Given the description of an element on the screen output the (x, y) to click on. 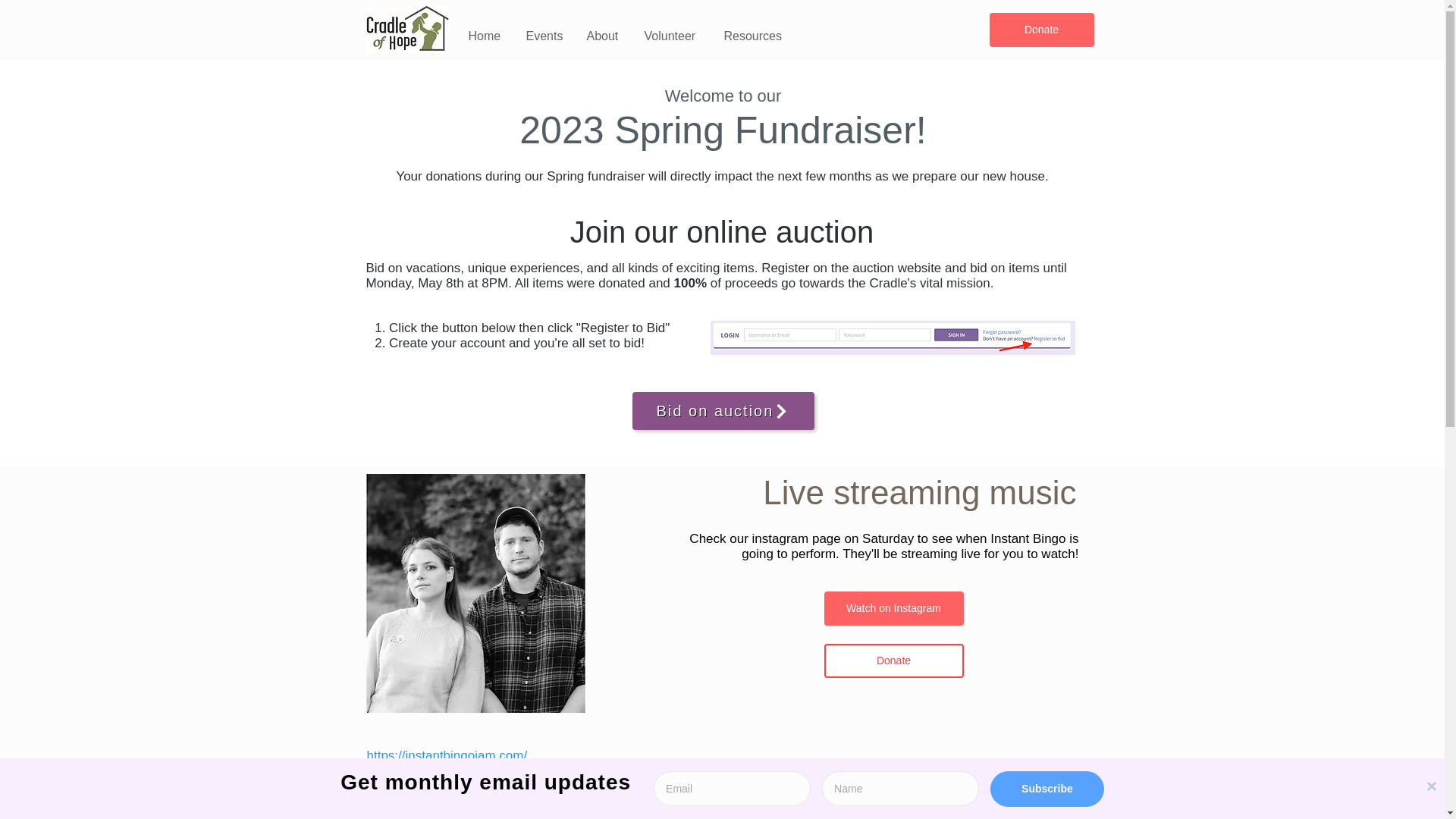
Home (485, 35)
Bid on auction (722, 410)
Watch on Instagram (893, 608)
Events (544, 35)
Volunteer (671, 35)
Donate (893, 660)
Donate (1040, 29)
